Given the description of an element on the screen output the (x, y) to click on. 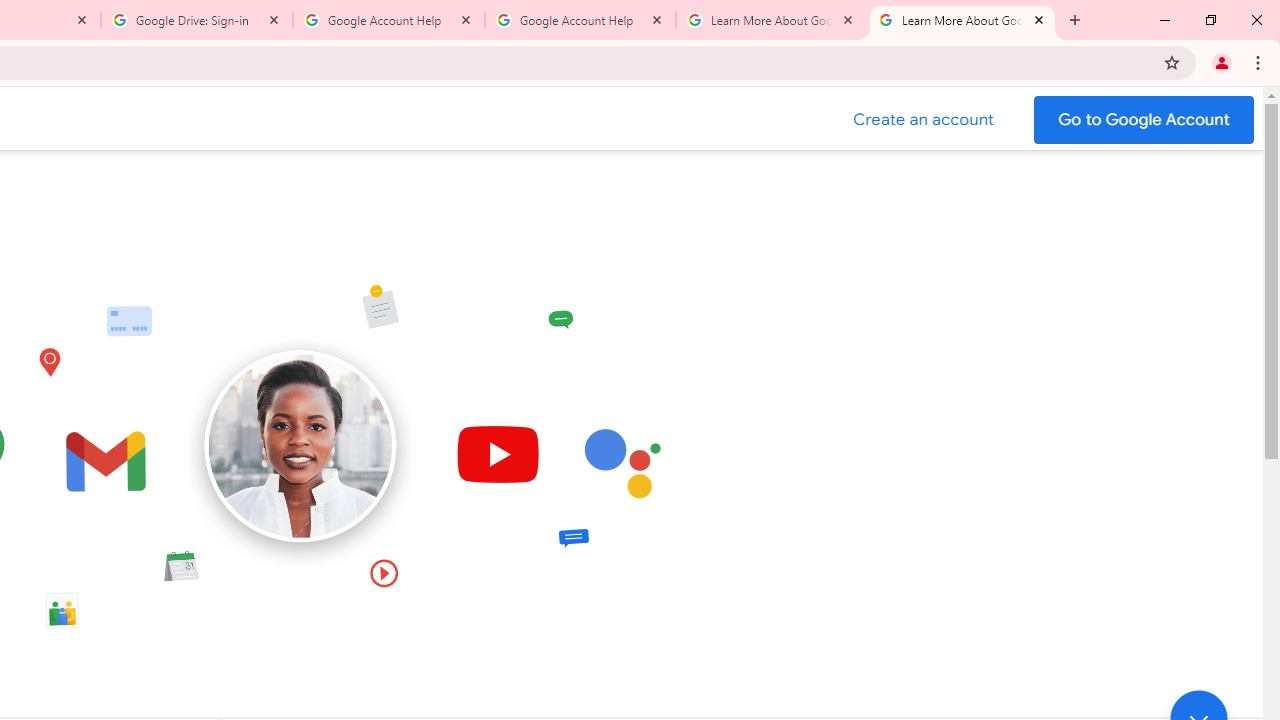
Google Account Help (389, 20)
Google Account Help (580, 20)
Go to your Google Account (1144, 119)
Google Drive: Sign-in (197, 20)
Create a Google Account (923, 119)
